Given the description of an element on the screen output the (x, y) to click on. 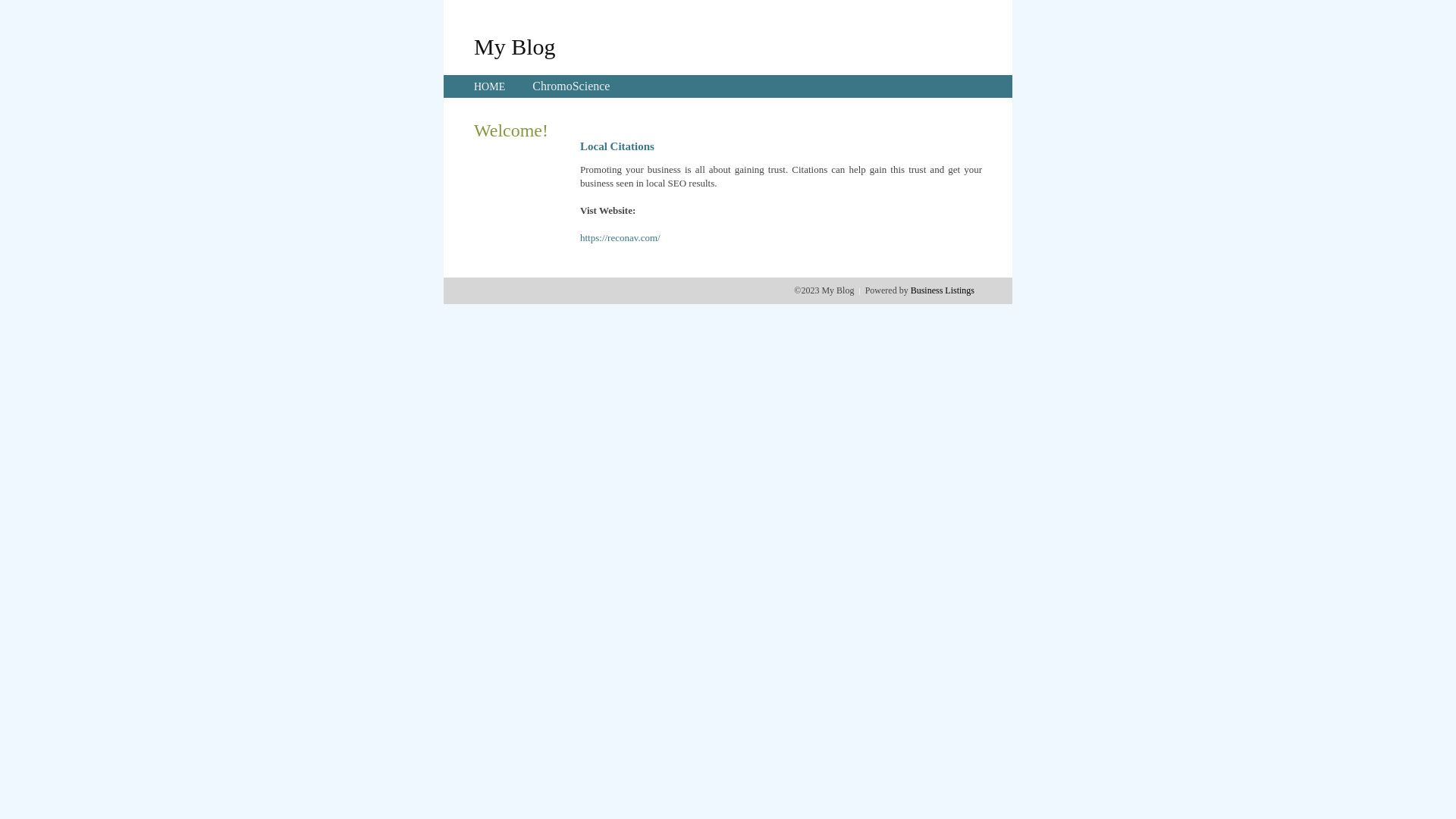
ChromoScience Element type: text (570, 85)
HOME Element type: text (489, 86)
Business Listings Element type: text (942, 290)
https://reconav.com/ Element type: text (620, 237)
My Blog Element type: text (514, 46)
